Given the description of an element on the screen output the (x, y) to click on. 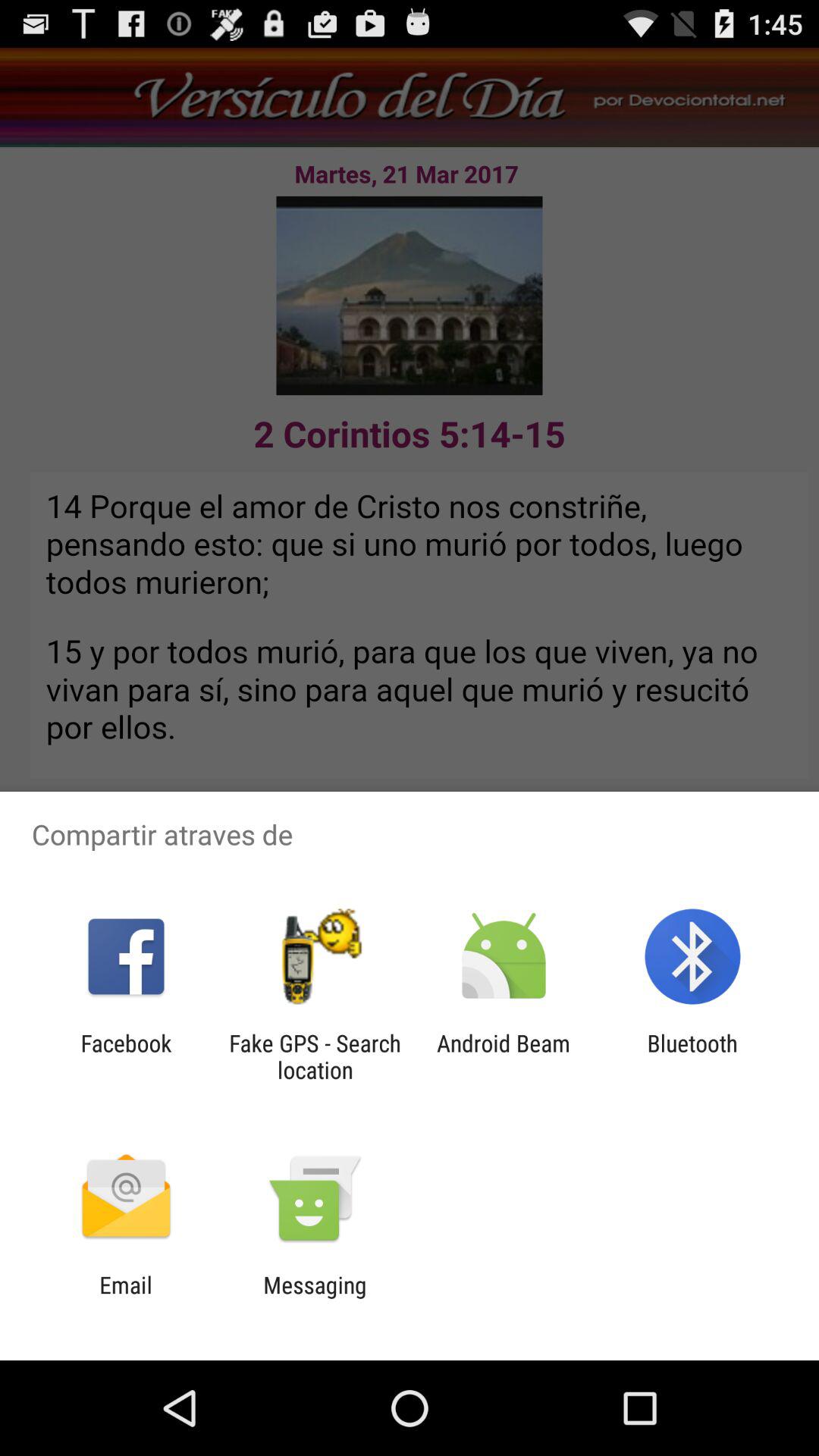
press the messaging (314, 1298)
